Given the description of an element on the screen output the (x, y) to click on. 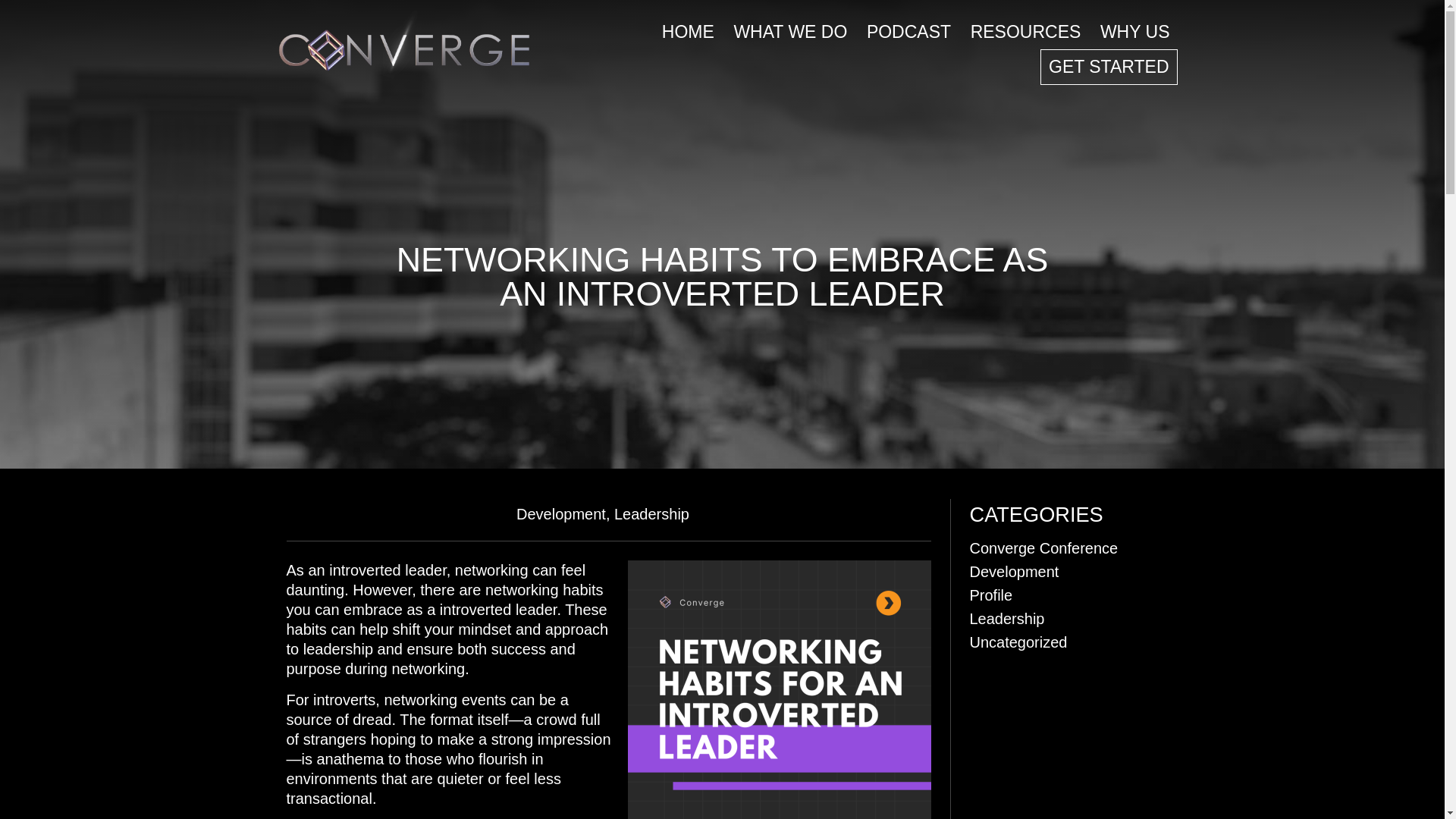
Development (560, 514)
Leadership (651, 514)
PODCAST (908, 32)
Converge Conference (1043, 547)
HOME (687, 32)
Profile (990, 595)
Development (560, 514)
Uncategorized (1018, 641)
Leadership (651, 514)
Development (1013, 571)
